Given the description of an element on the screen output the (x, y) to click on. 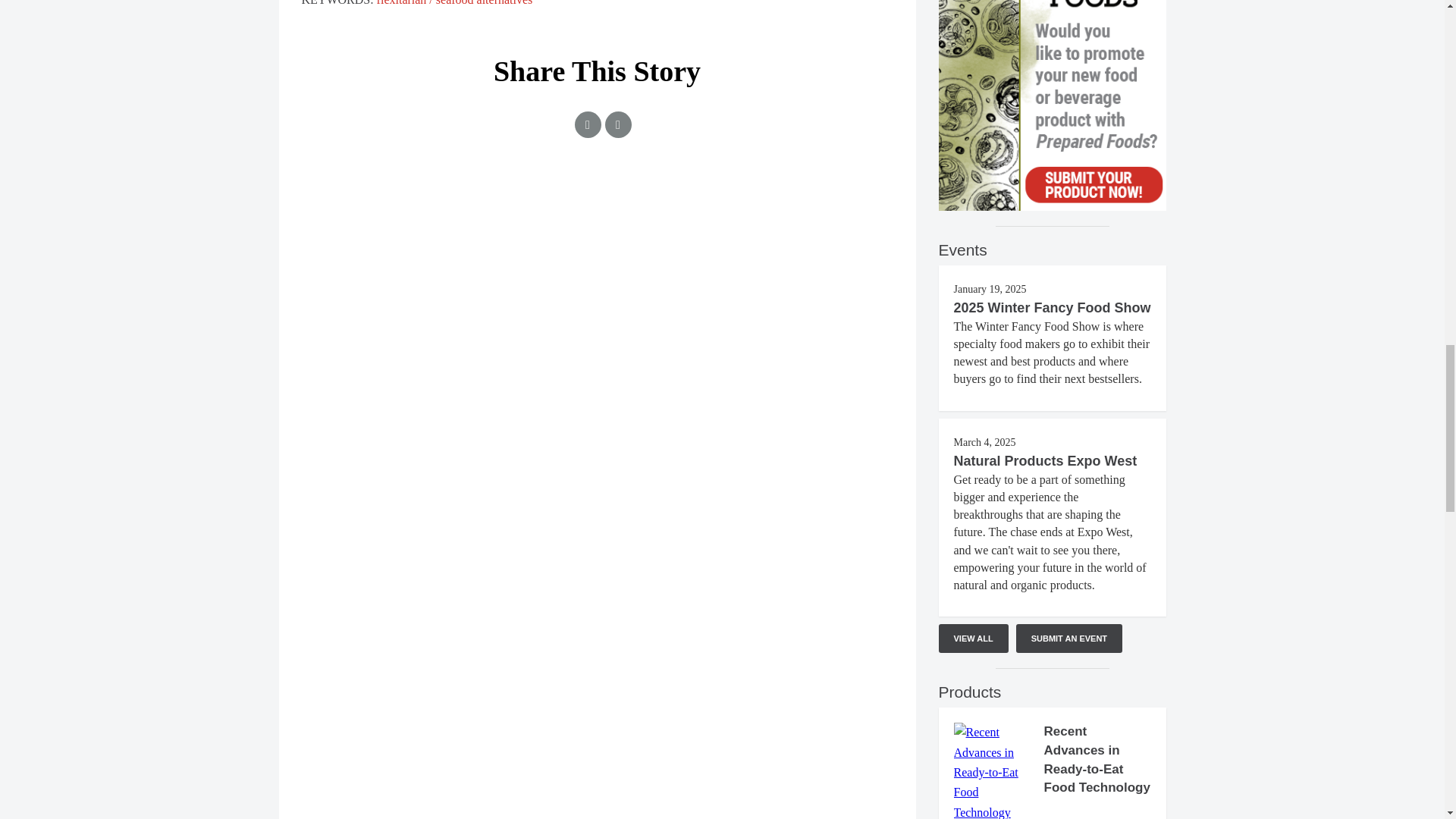
Interaction questions (597, 243)
Natural Products Expo West (1045, 460)
2025 Winter Fancy Food Show (1052, 307)
